Given the description of an element on the screen output the (x, y) to click on. 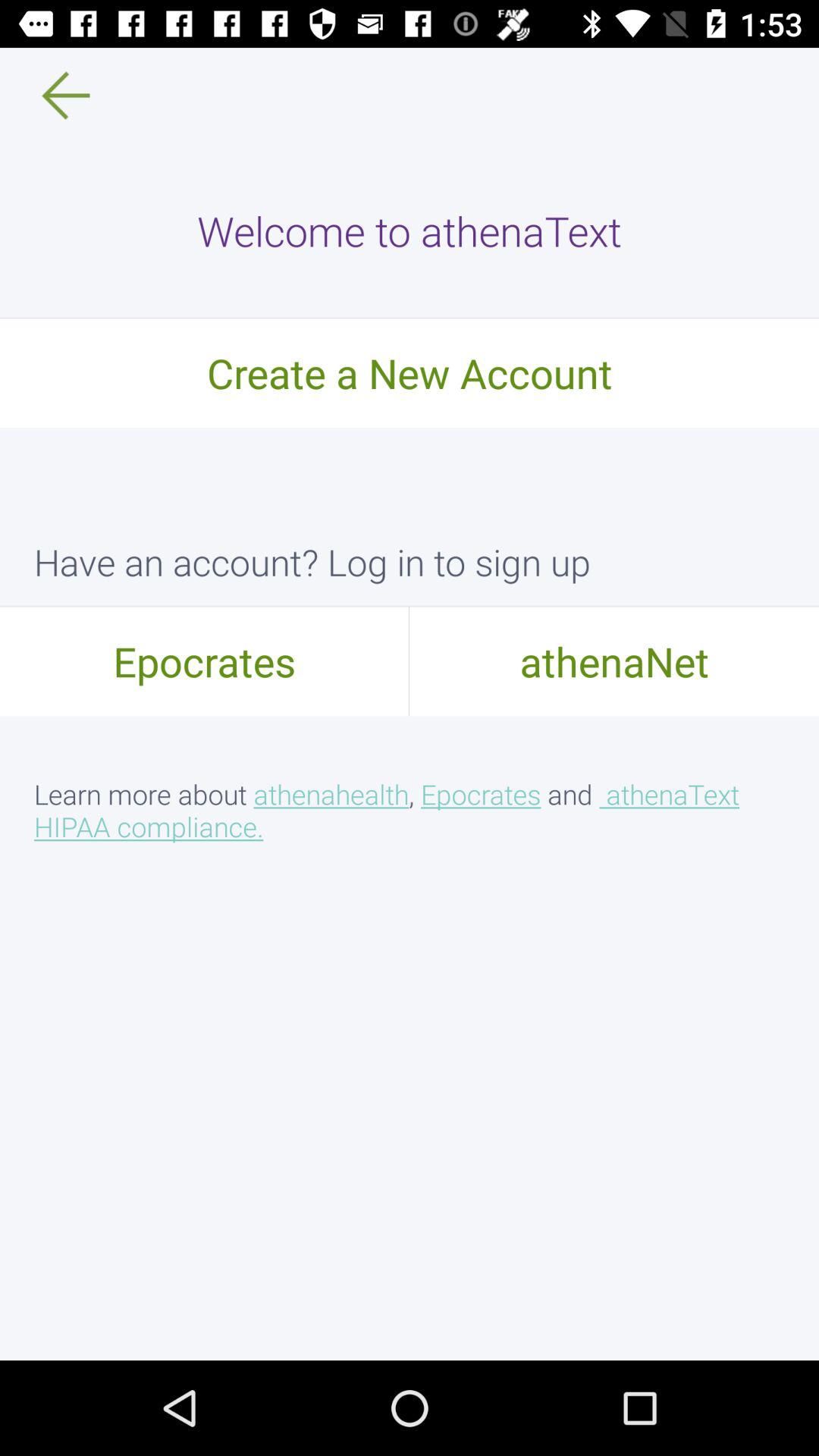
select item above welcome to athenatext (55, 95)
